Given the description of an element on the screen output the (x, y) to click on. 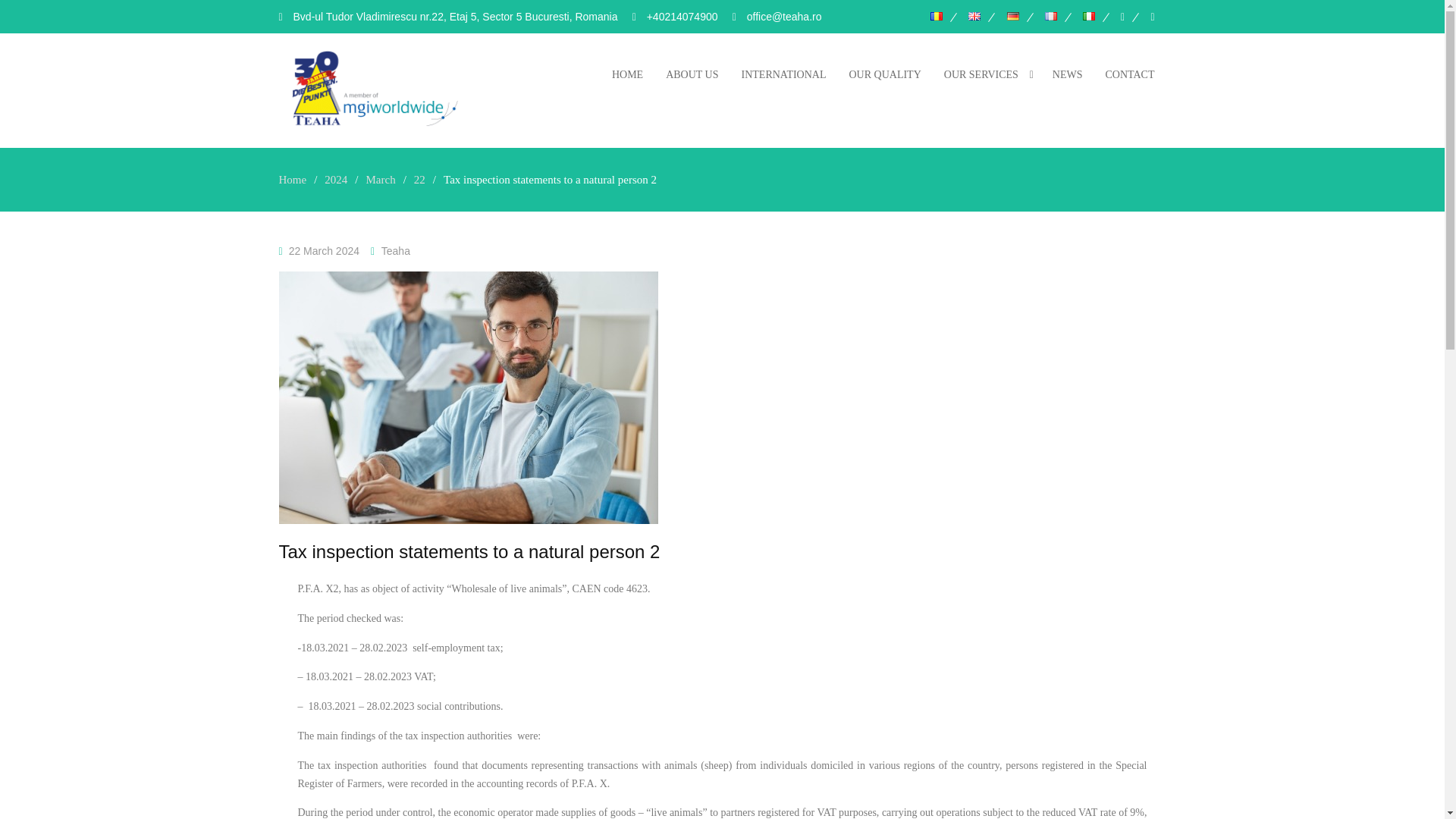
22 March 2024 (323, 250)
ABOUT US (691, 74)
Italiano (1088, 16)
HOME (626, 74)
INTERNATIONAL (784, 74)
English (973, 16)
22 (419, 179)
OUR QUALITY (884, 74)
Home (293, 179)
CONTACT (1129, 74)
